Given the description of an element on the screen output the (x, y) to click on. 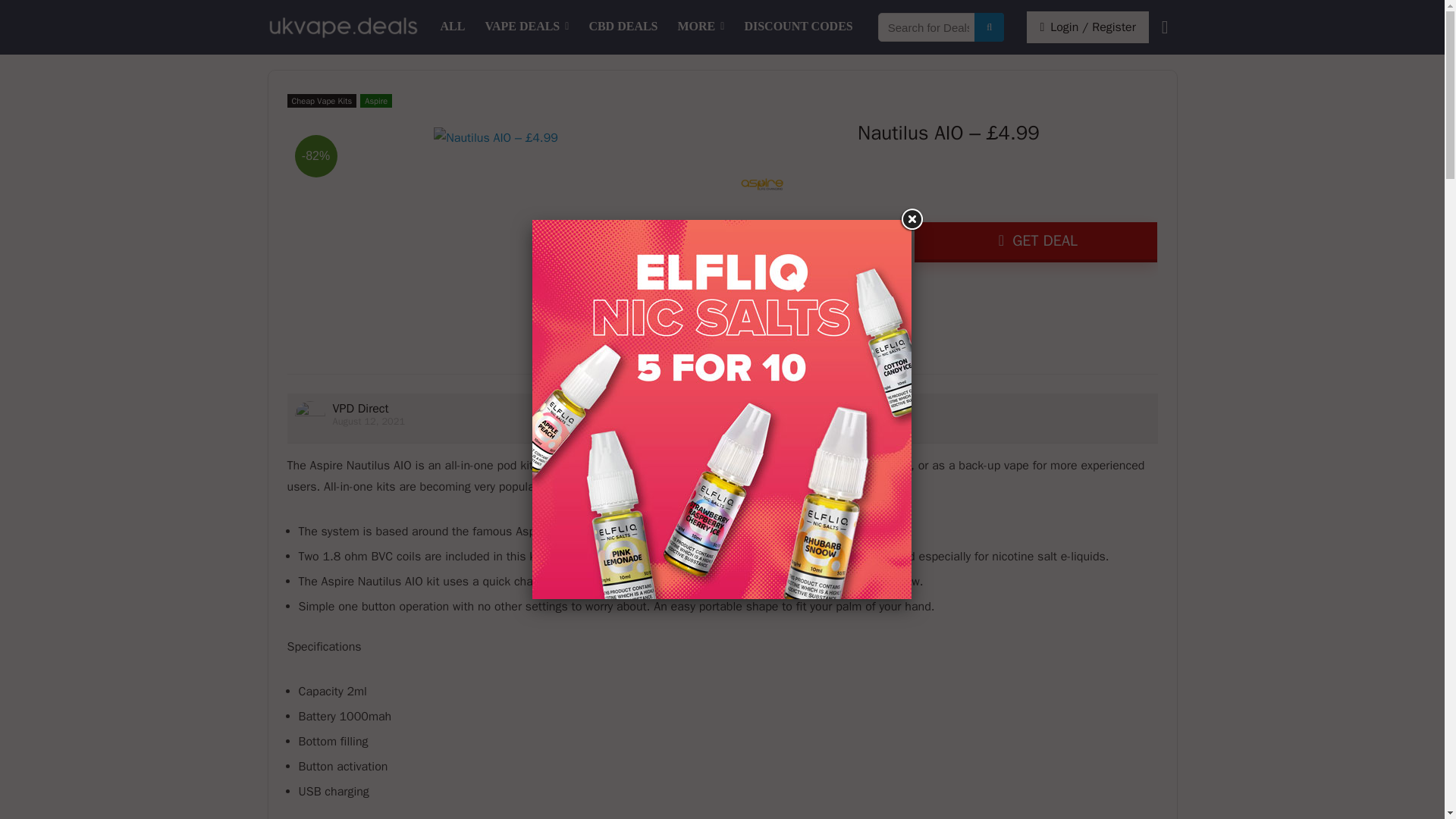
ALL (453, 27)
DISCOUNT CODES (797, 27)
CBD DEALS (622, 27)
View all posts in Cheap Vape Kits (321, 100)
Aspire (375, 100)
Cheap Vape Kits (321, 100)
VAPE DEALS (526, 27)
CBD Deals UK (622, 27)
View all posts in Aspire (375, 100)
GET DEAL (1035, 241)
Vape Deals (526, 27)
VPD Direct (359, 408)
UK Vape Deals  (453, 27)
MORE (701, 27)
